Given the description of an element on the screen output the (x, y) to click on. 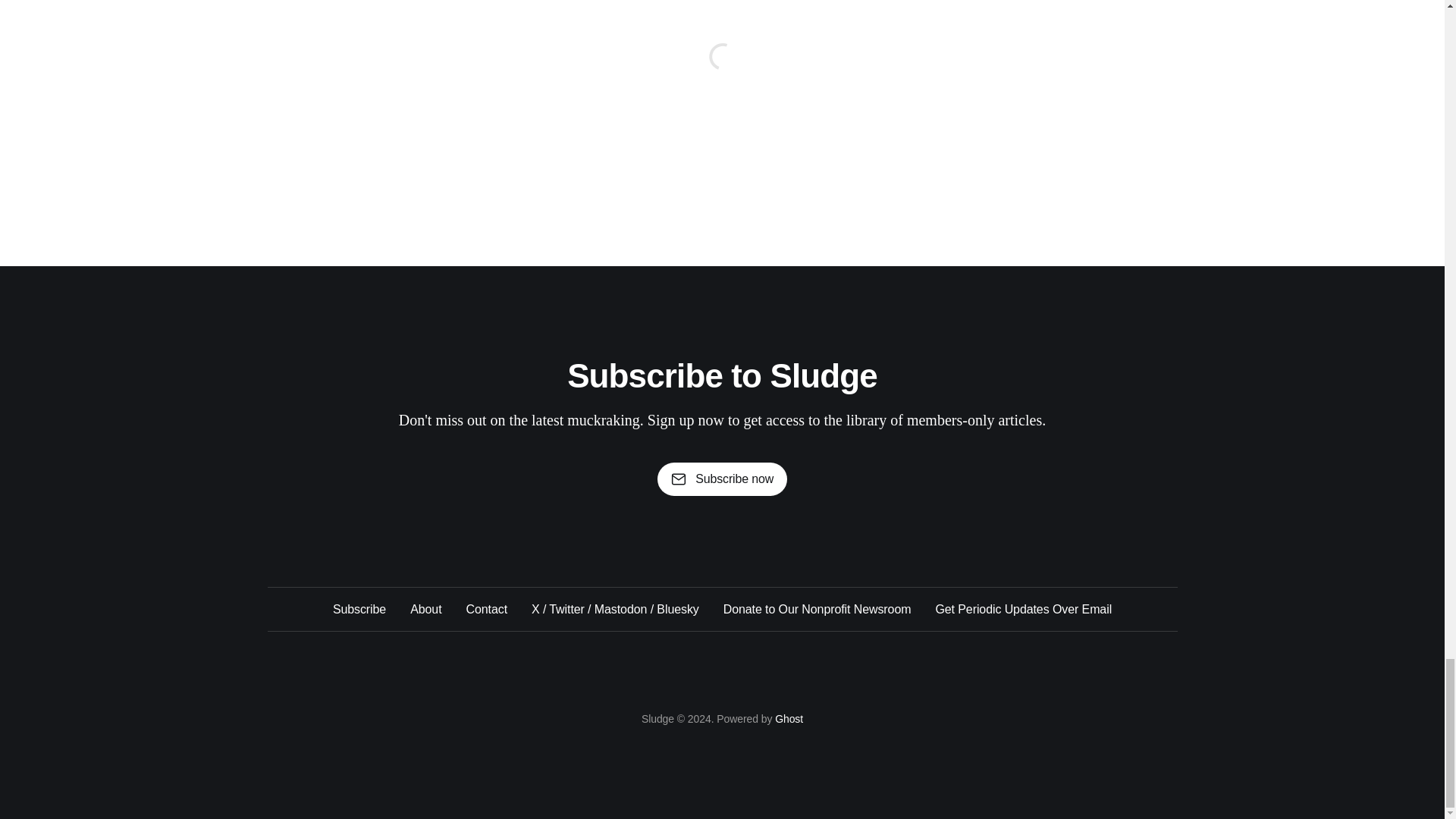
Contact (485, 609)
Ghost (788, 718)
Get Periodic Updates Over Email (1023, 609)
comments-frame (721, 74)
About (425, 609)
Subscribe now (722, 479)
Donate to Our Nonprofit Newsroom (817, 609)
Subscribe (359, 609)
